Given the description of an element on the screen output the (x, y) to click on. 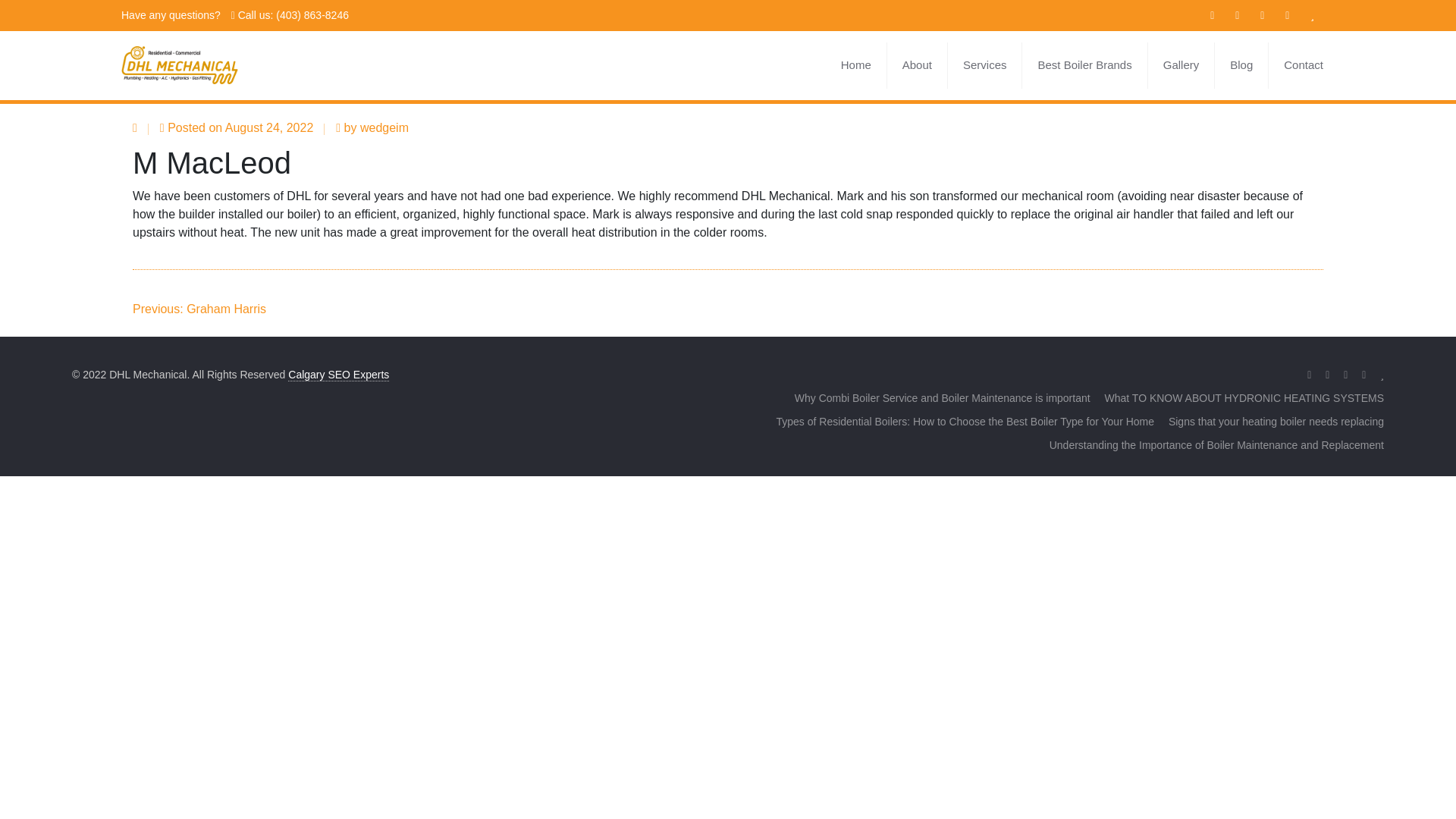
August 24, 2022 (269, 127)
About (916, 65)
Home (855, 65)
What TO KNOW ABOUT HYDRONIC HEATING SYSTEMS (1244, 397)
Calgary SEO Experts (338, 374)
wedgeim (384, 127)
Blog (1241, 65)
Previous: Graham Harris (199, 308)
Signs that your heating boiler needs replacing (1276, 421)
Contact (1295, 65)
Why Combi Boiler Service and Boiler Maintenance is important (942, 397)
TOS (1359, 123)
Services (985, 65)
